Given the description of an element on the screen output the (x, y) to click on. 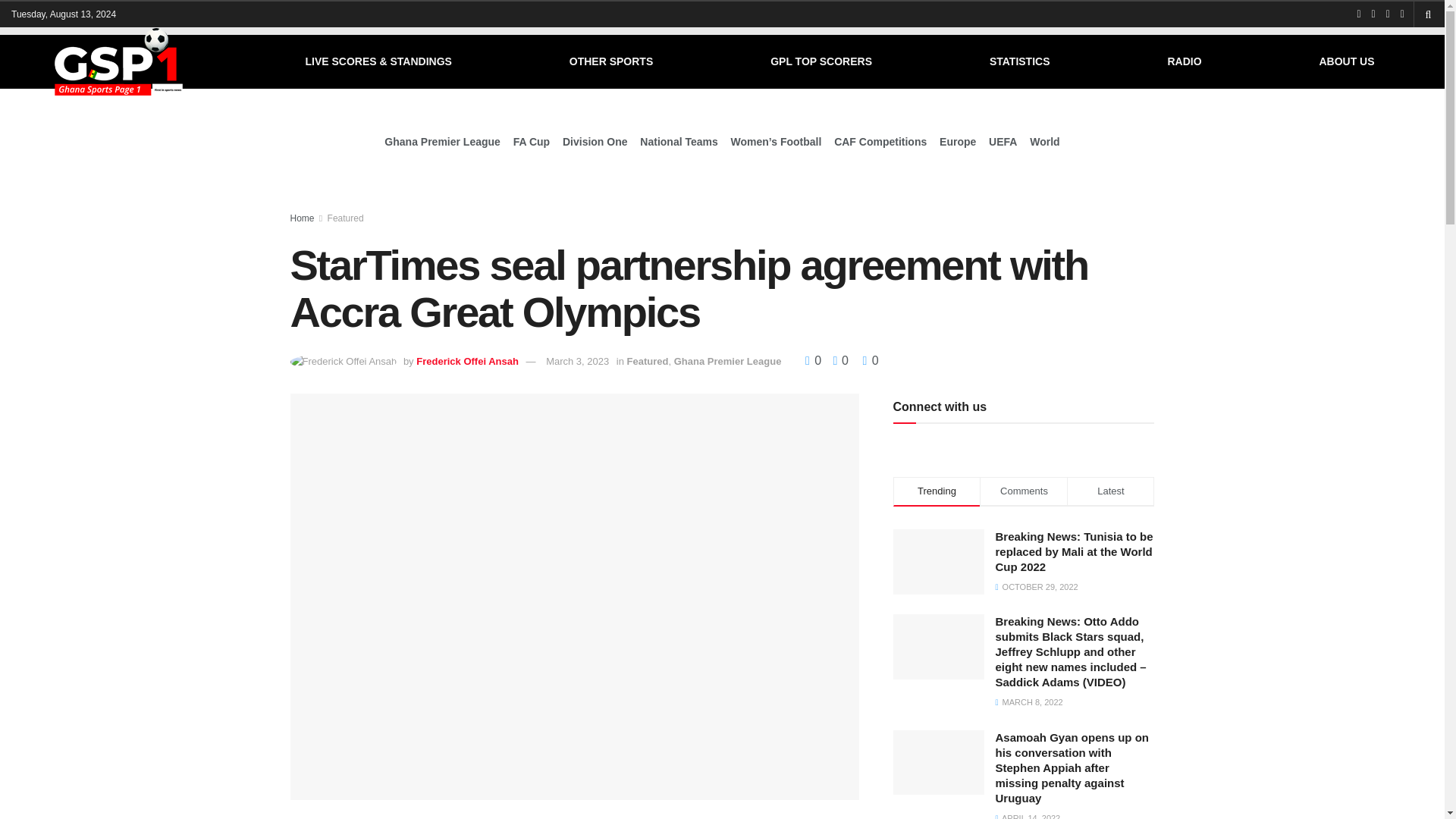
FA Cup (531, 141)
Division One (594, 141)
Ghana Premier League (442, 141)
GPL TOP SCORERS (821, 61)
ABOUT US (1346, 61)
RADIO (1184, 61)
OTHER SPORTS (611, 61)
STATISTICS (1019, 61)
